Given the description of an element on the screen output the (x, y) to click on. 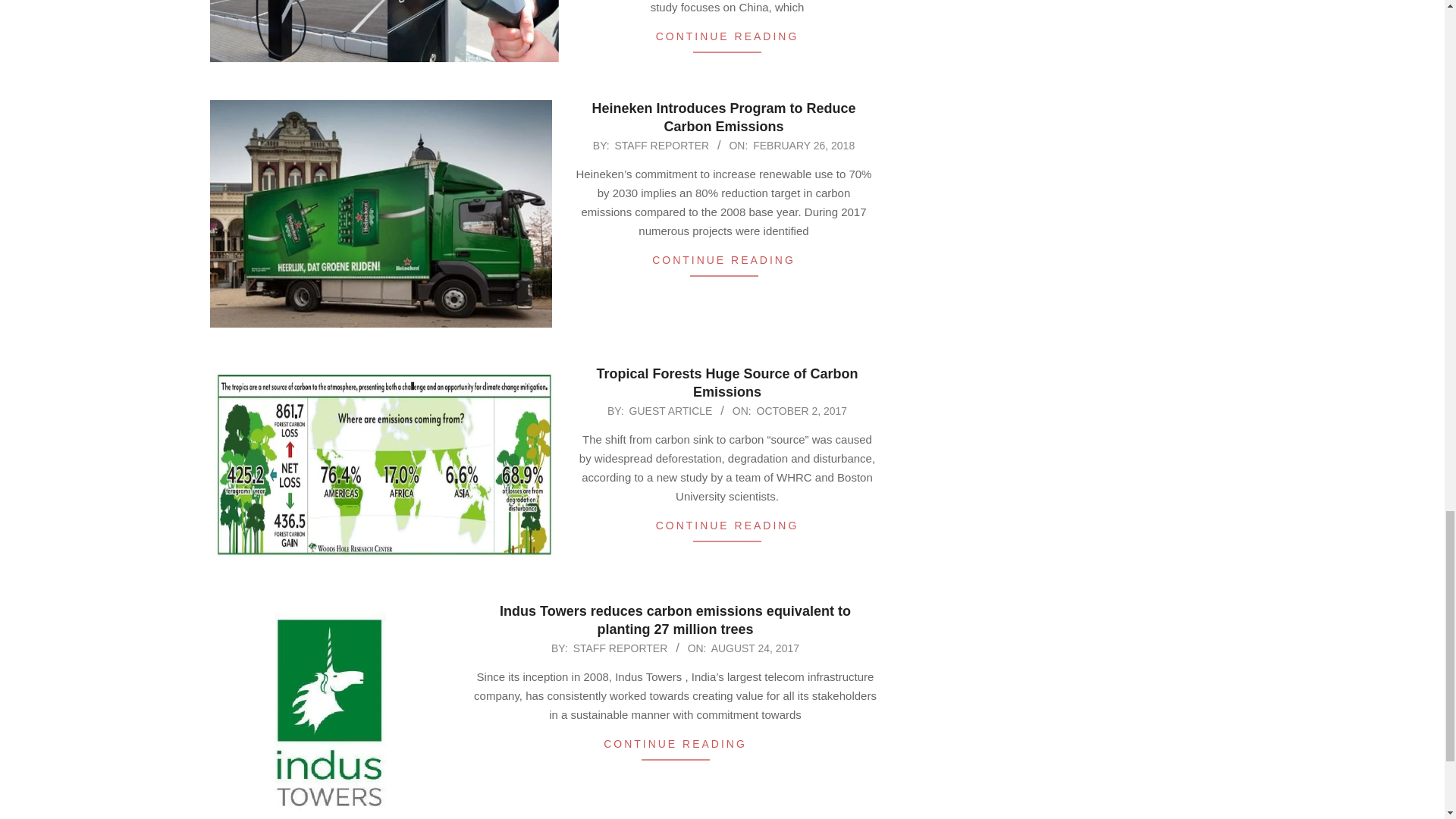
Monday, October 2, 2017, 10:00 am (802, 410)
Posts by Guest Article (670, 410)
Monday, February 26, 2018, 1:44 pm (803, 145)
Posts by Staff Reporter (661, 145)
Thursday, August 24, 2017, 1:45 pm (755, 648)
Posts by Staff Reporter (620, 648)
